Given the description of an element on the screen output the (x, y) to click on. 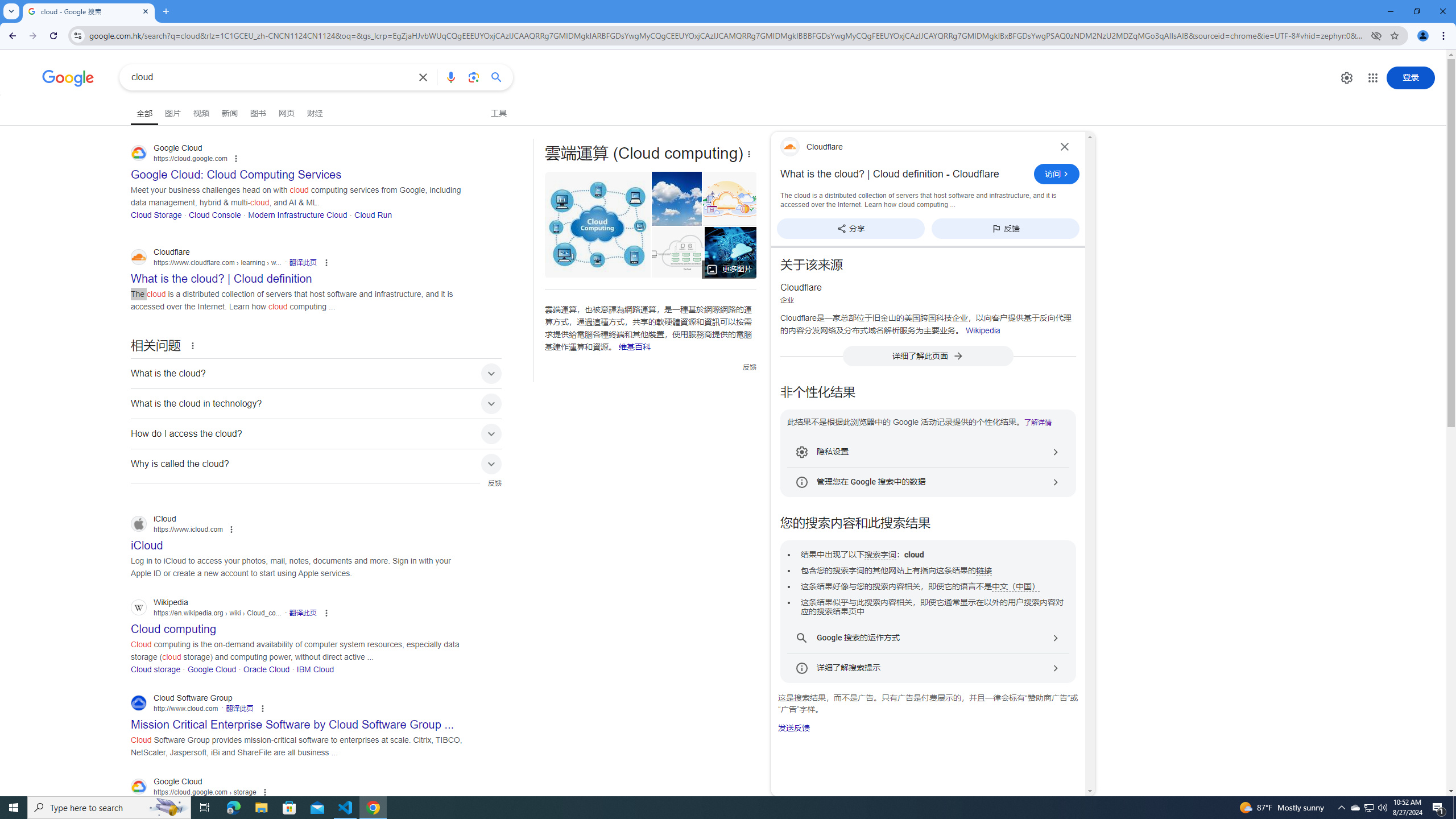
Third-party cookies blocked (1376, 35)
What is the cloud? (316, 373)
Oracle Cloud (266, 669)
Cloud Console (214, 214)
